Given the description of an element on the screen output the (x, y) to click on. 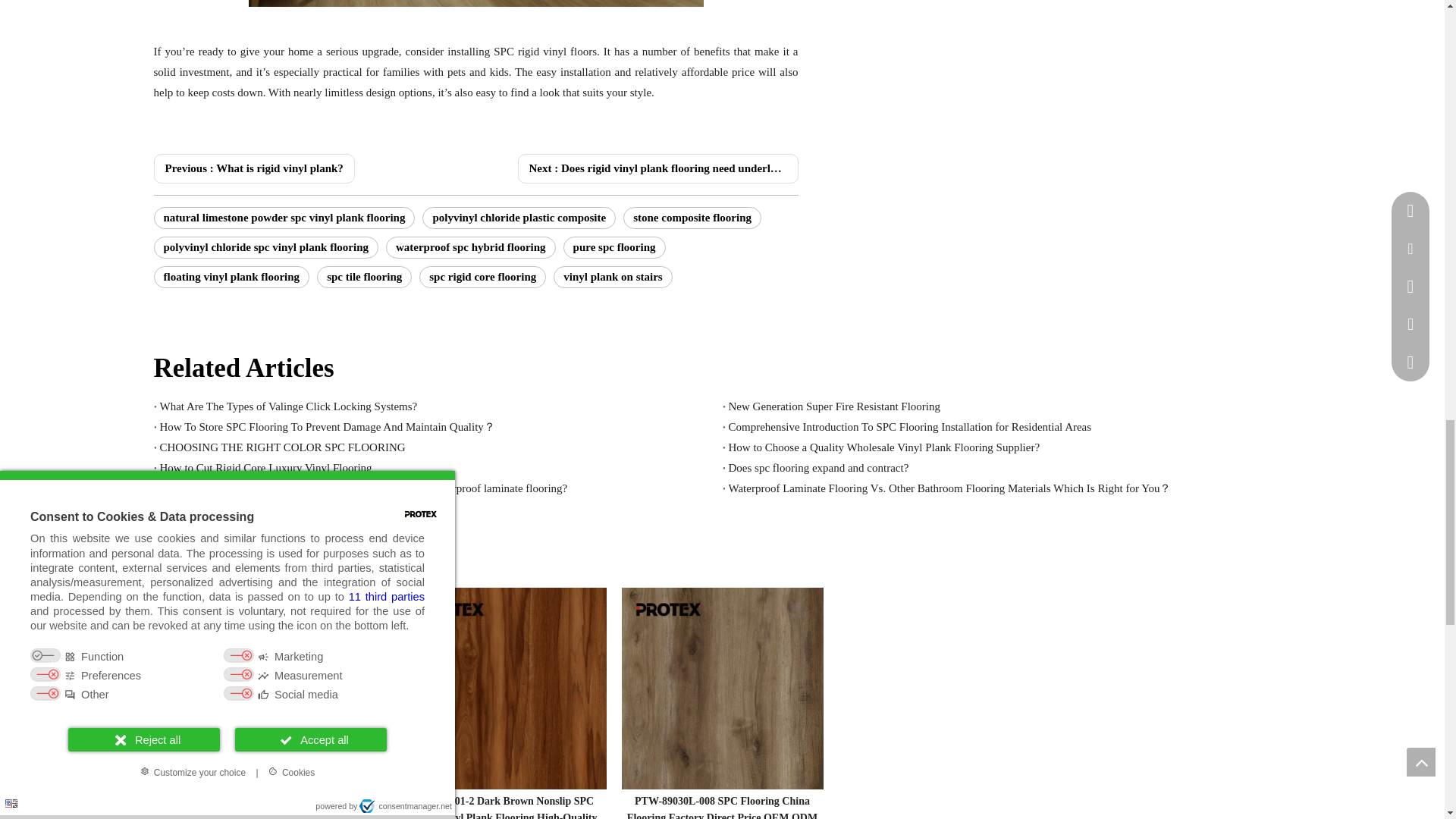
spc rigid core flooring (482, 277)
stone composite flooring (692, 218)
polyvinyl chloride plastic composite (518, 218)
waterproof spc hybrid flooring (470, 247)
pure spc flooring (614, 247)
polyvinyl chloride spc vinyl plank flooring (264, 247)
spc tile flooring (364, 277)
natural limestone powder spc vinyl plank flooring (283, 218)
floating vinyl plank flooring (230, 277)
